Given the description of an element on the screen output the (x, y) to click on. 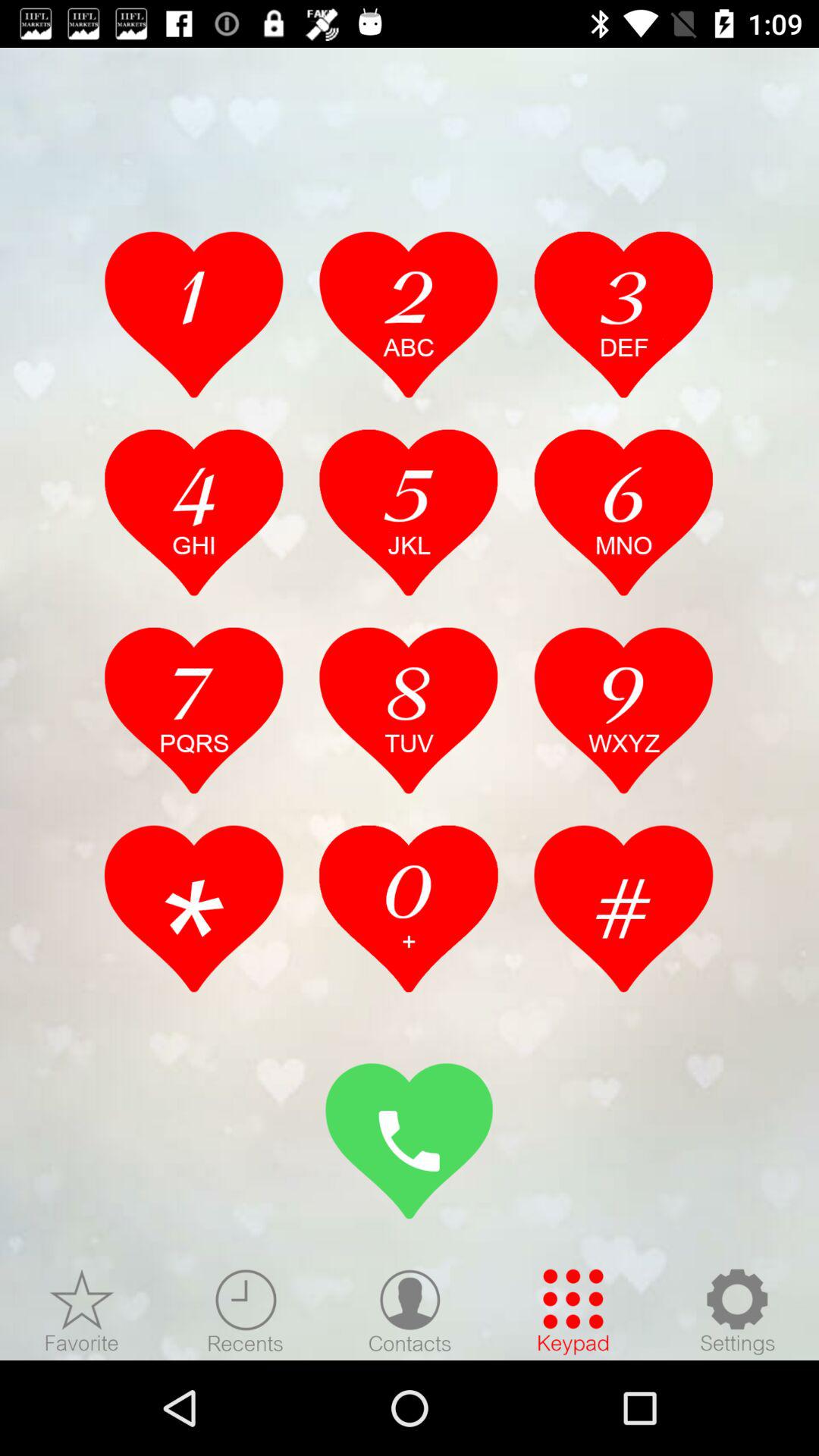
keypad (573, 1311)
